Given the description of an element on the screen output the (x, y) to click on. 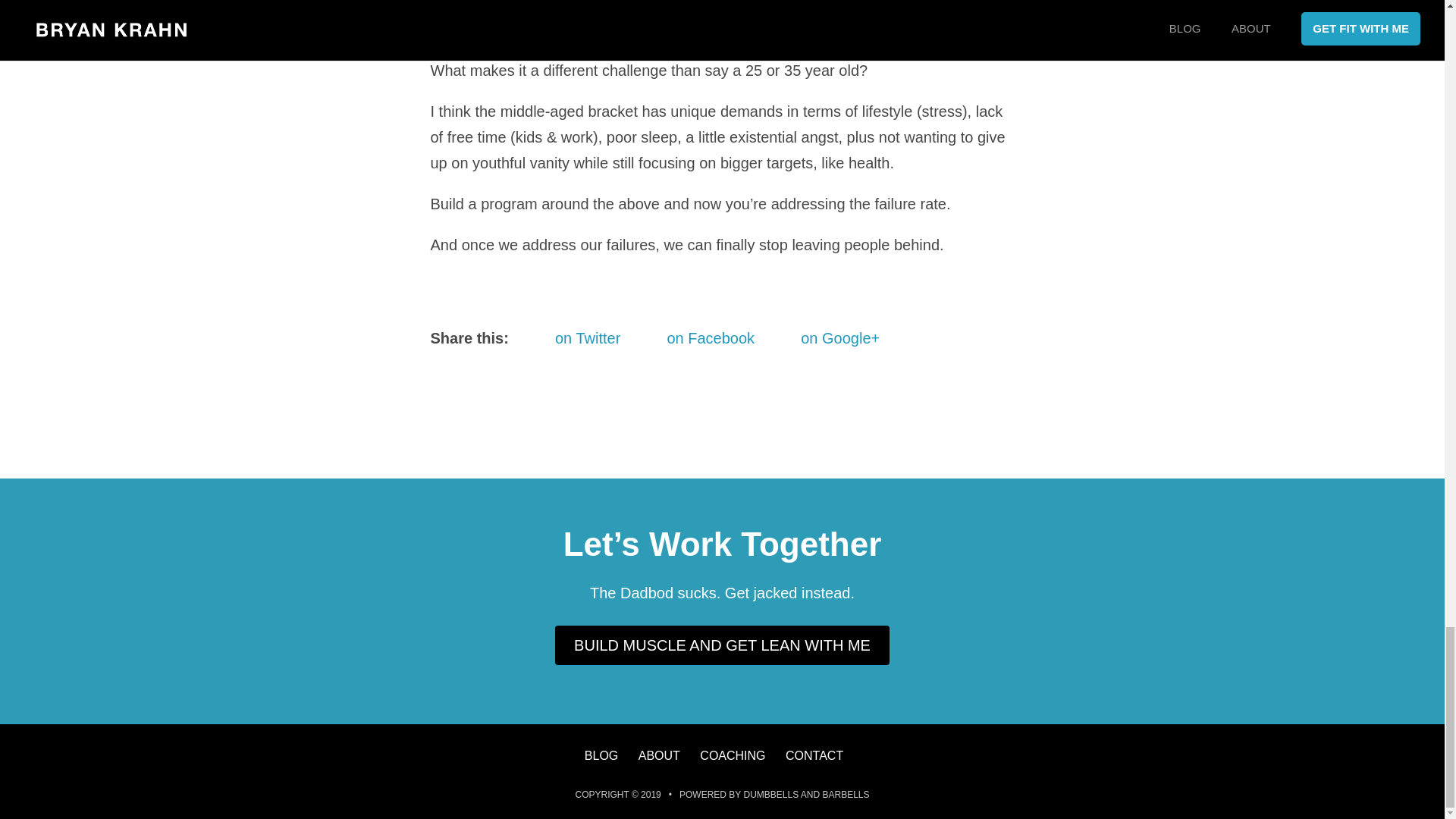
BLOG (601, 755)
on Facebook (693, 338)
ABOUT (659, 755)
BUILD MUSCLE AND GET LEAN WITH ME (721, 645)
COACHING (732, 755)
on Twitter (570, 338)
CONTACT (814, 755)
